Given the description of an element on the screen output the (x, y) to click on. 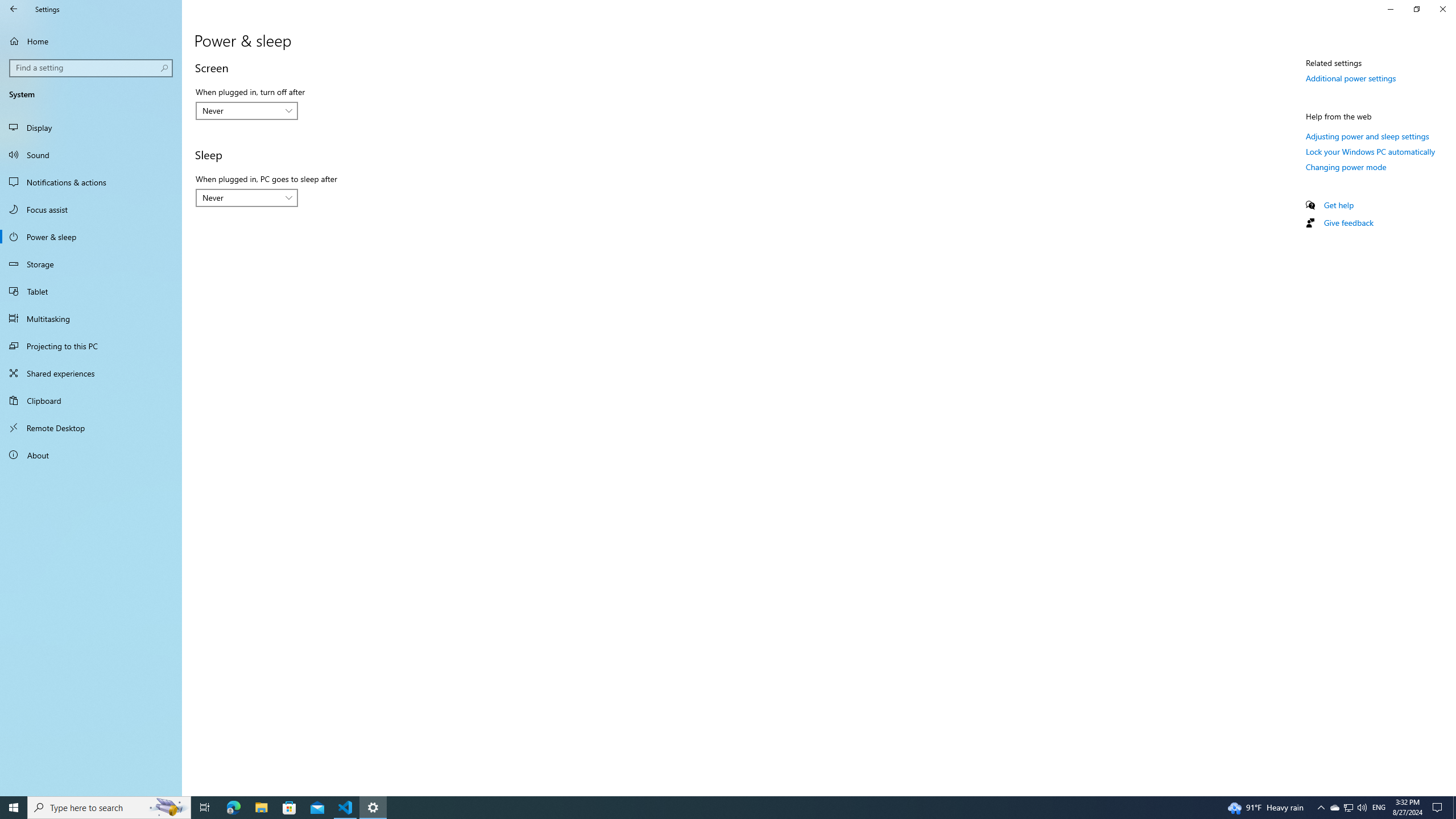
Projecting to this PC (91, 345)
Search box, Find a setting (91, 67)
Sound (91, 154)
Additional power settings (1351, 77)
Remote Desktop (91, 427)
Tablet (91, 290)
Never (240, 197)
Notifications & actions (91, 181)
Changing power mode (1346, 166)
About (91, 454)
